Given the description of an element on the screen output the (x, y) to click on. 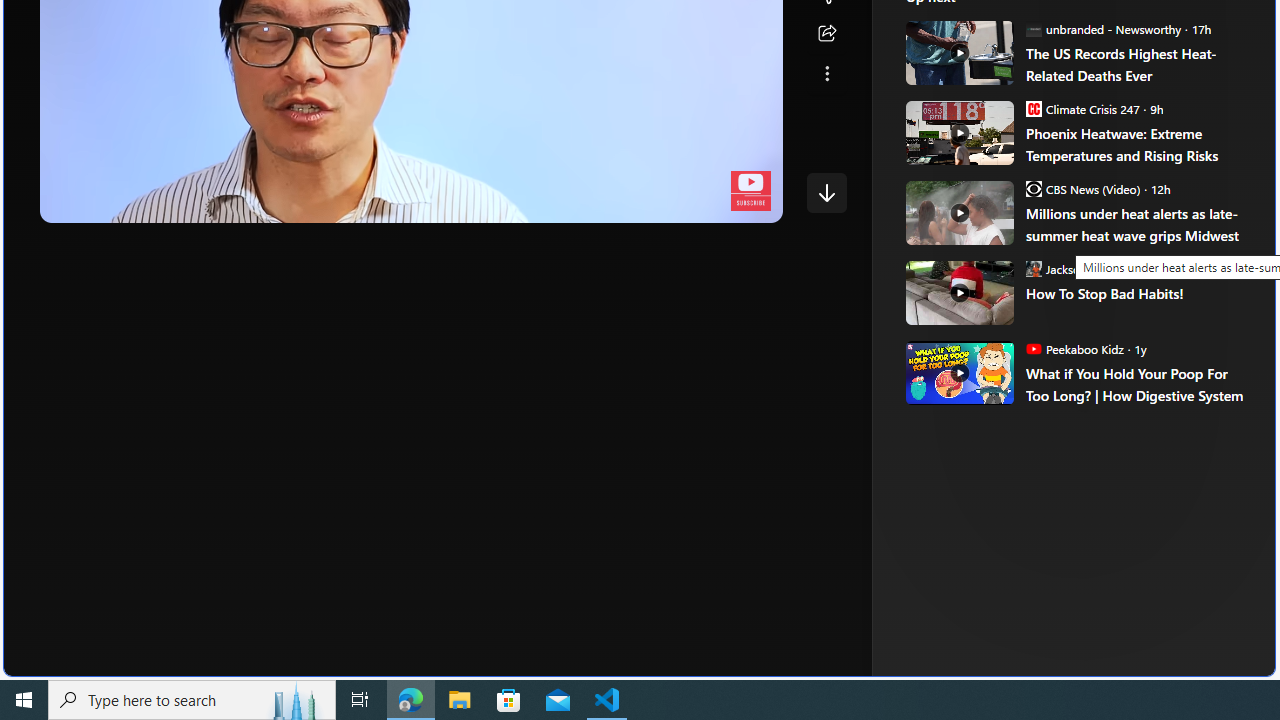
See more (826, 74)
Unmute (m) (118, 202)
Settings (644, 202)
Feedback (1199, 659)
How To Stop Bad Habits! (958, 291)
Watch on YouTube (697, 202)
Channel watermark (750, 191)
Class: control (826, 192)
The US Records Highest Heat-Related Deaths Ever (958, 52)
Peekaboo Kidz (1033, 348)
The US Records Highest Heat-Related Deaths Ever (1136, 64)
Jackson O'Doherty Jackson O'Doherty (1085, 268)
Climate Crisis 247 Climate Crisis 247 (1082, 108)
Jackson O'Doherty (1033, 268)
